Given the description of an element on the screen output the (x, y) to click on. 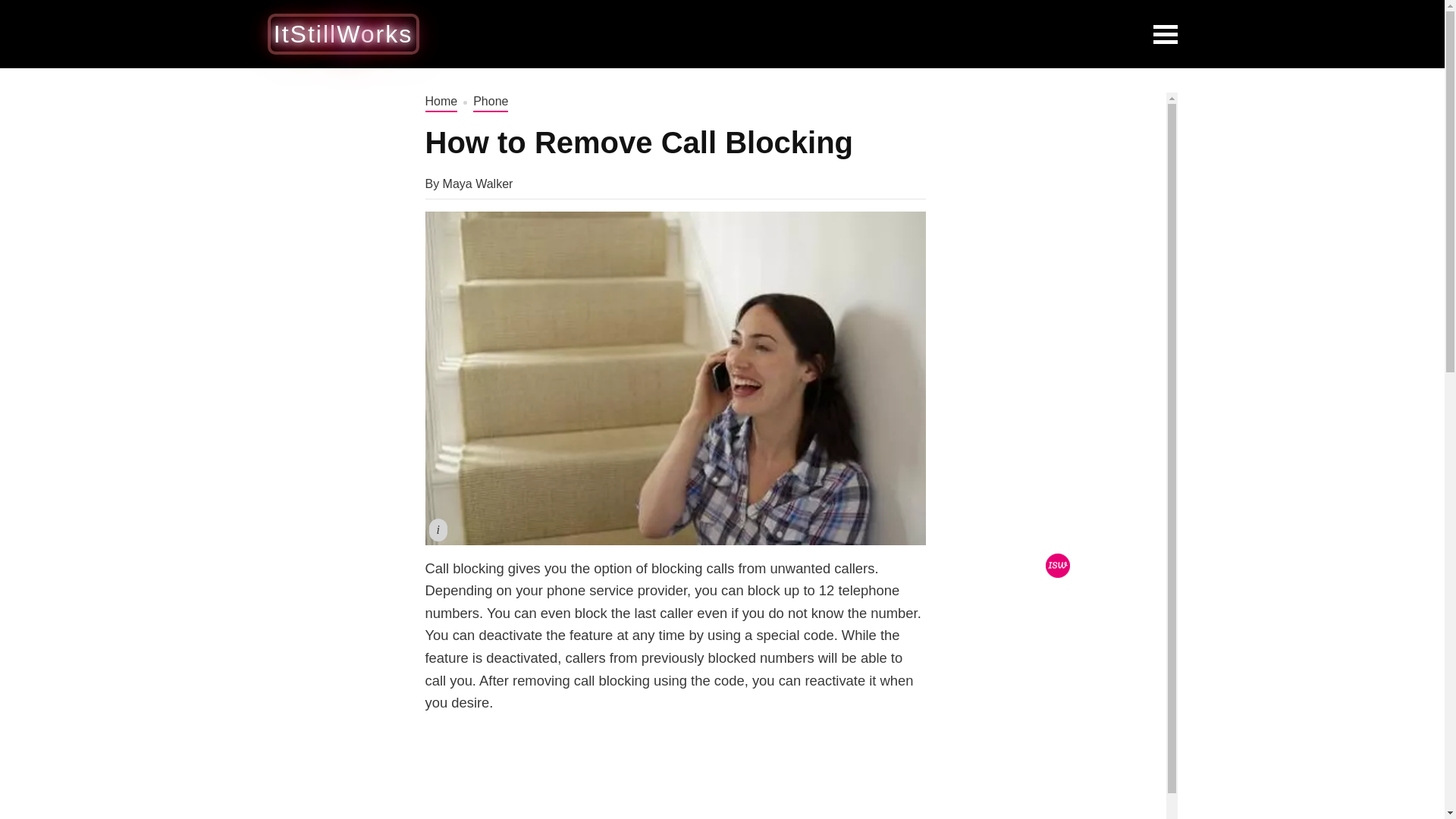
Home (441, 102)
ItStillWorks (342, 33)
Phone (490, 102)
